Given the description of an element on the screen output the (x, y) to click on. 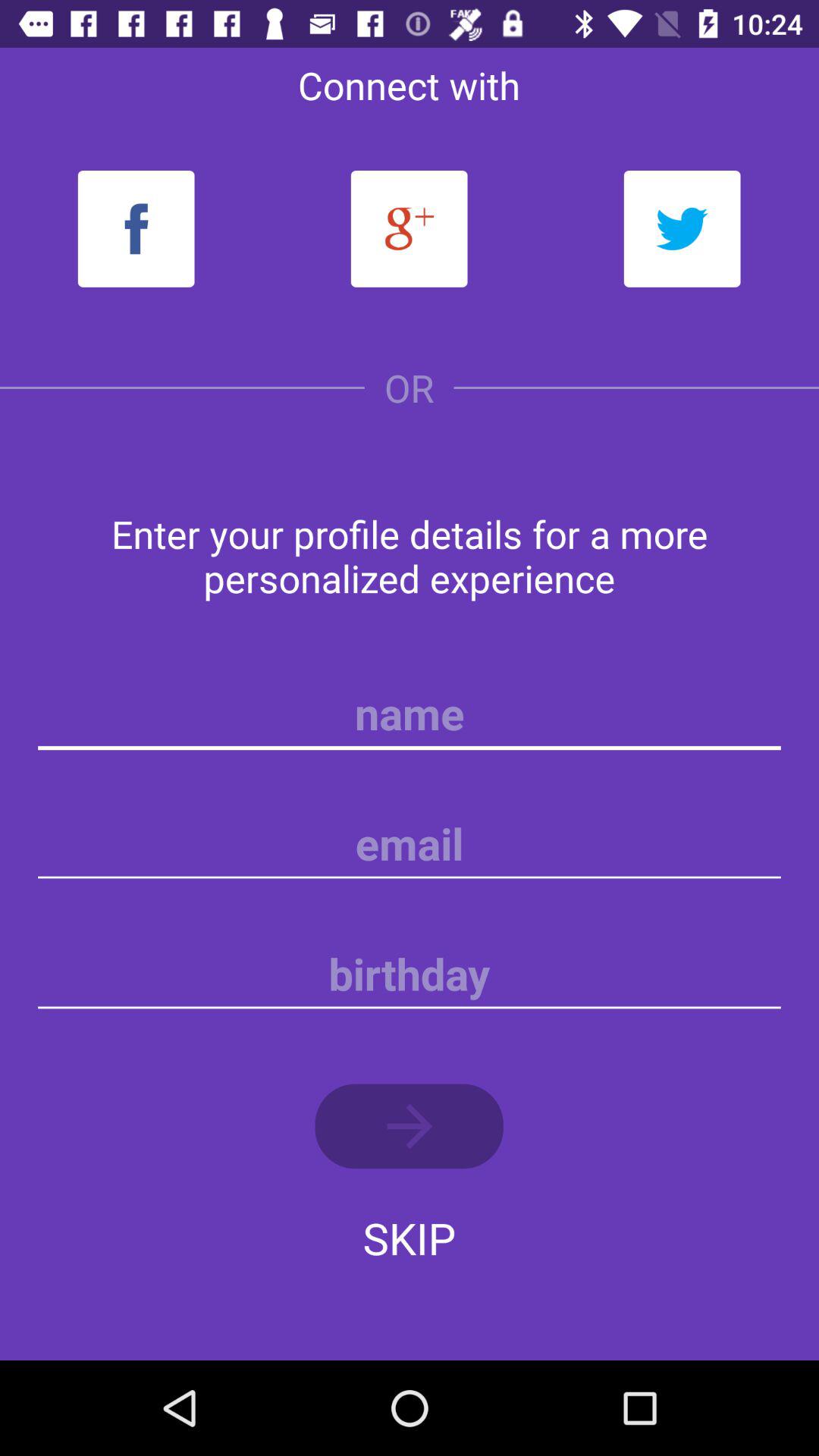
insert email (409, 843)
